Given the description of an element on the screen output the (x, y) to click on. 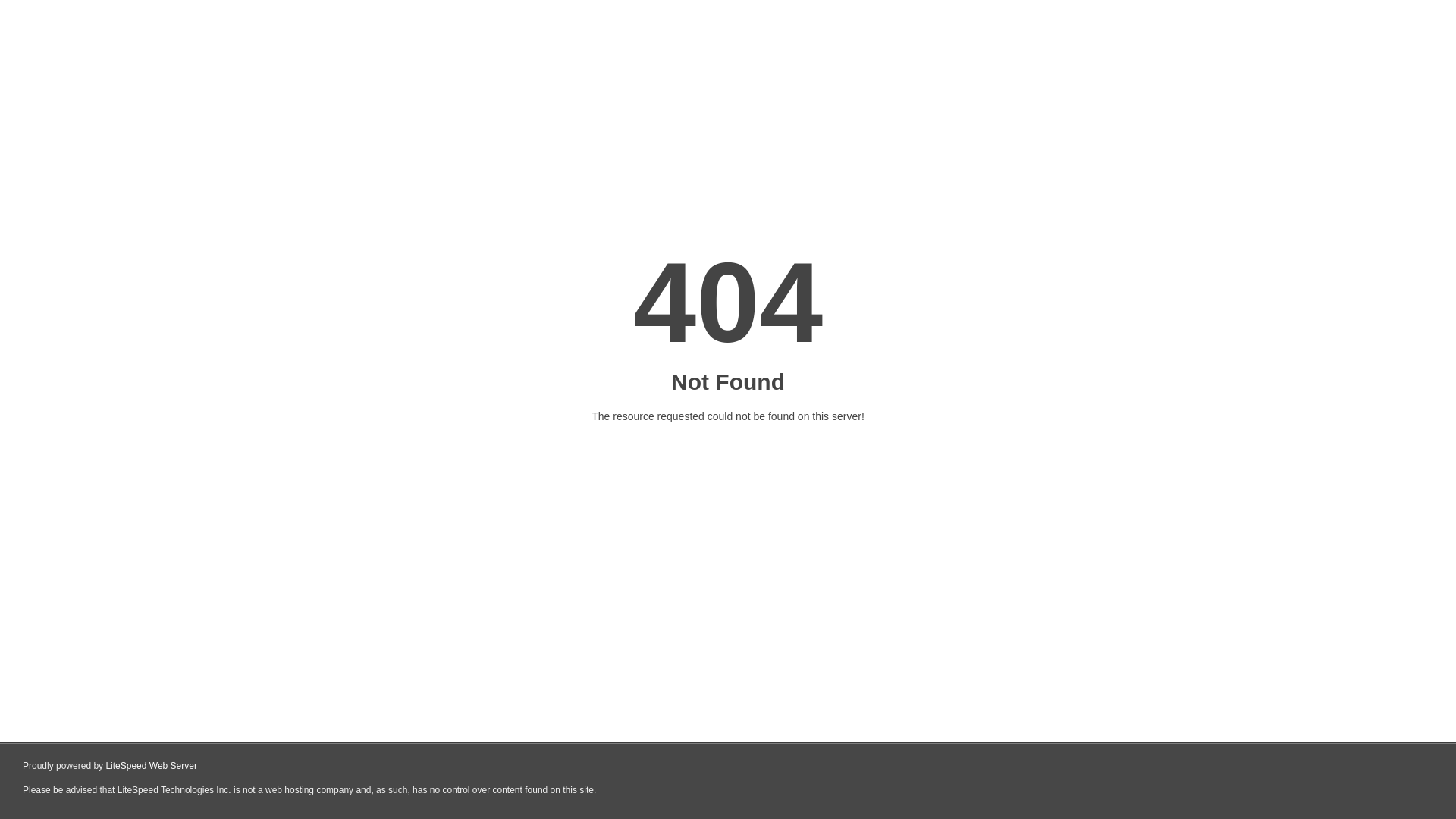
LiteSpeed Web Server Element type: text (151, 765)
